Given the description of an element on the screen output the (x, y) to click on. 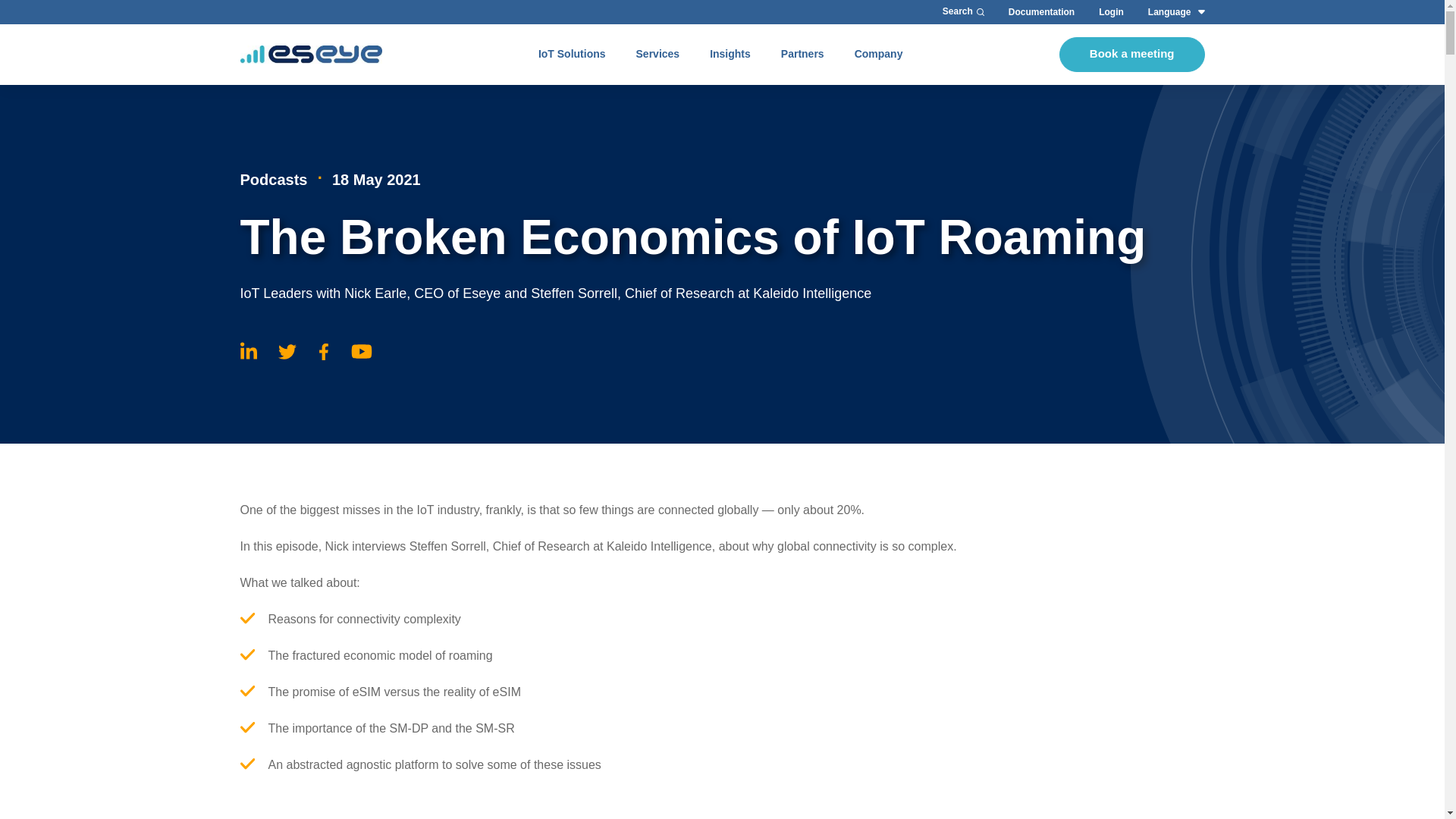
Documentation (1041, 11)
IoT Solutions (571, 54)
Search (963, 11)
Language (1169, 11)
Login (1111, 11)
